Given the description of an element on the screen output the (x, y) to click on. 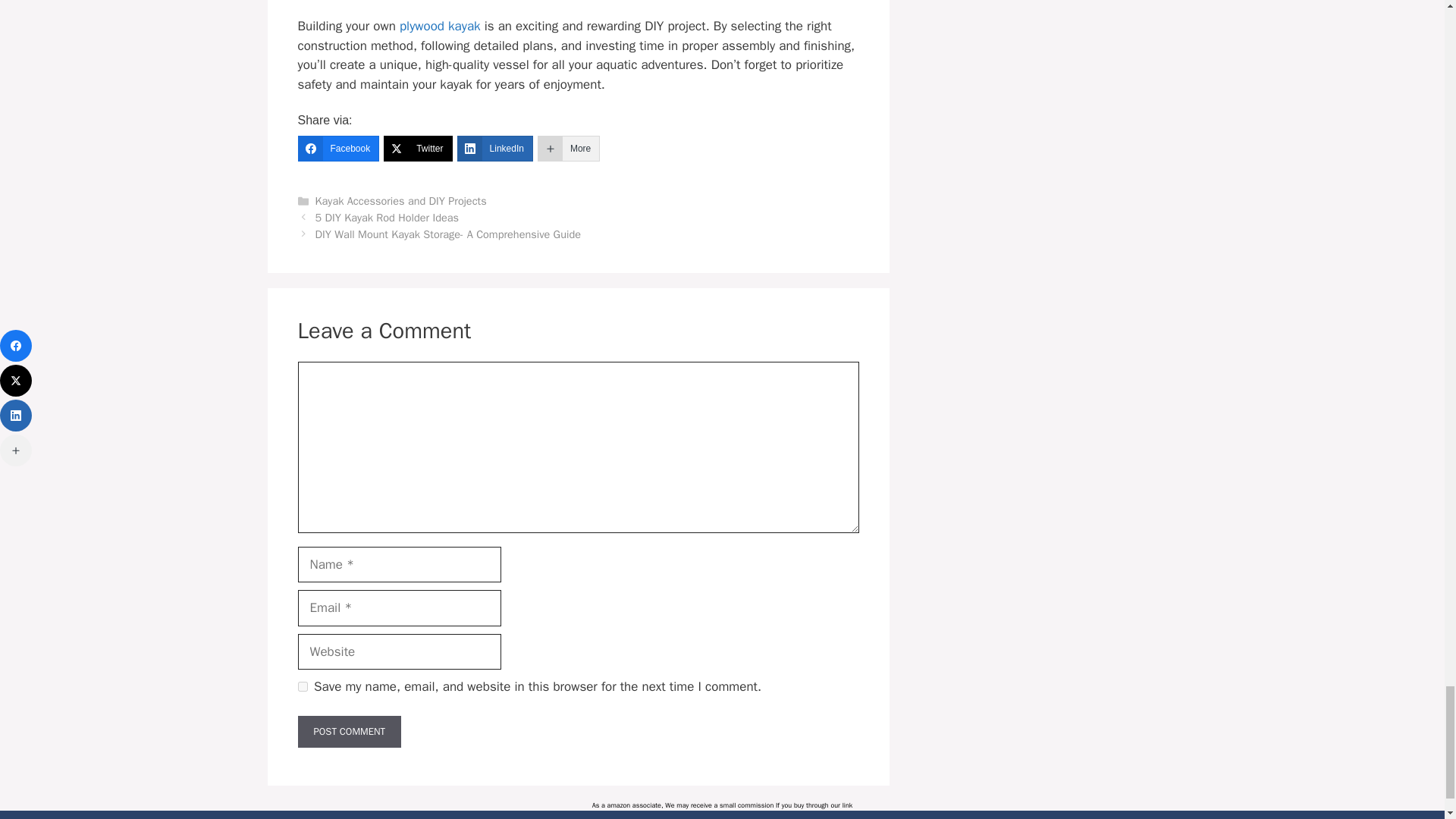
yes (302, 686)
Post Comment (349, 731)
